Given the description of an element on the screen output the (x, y) to click on. 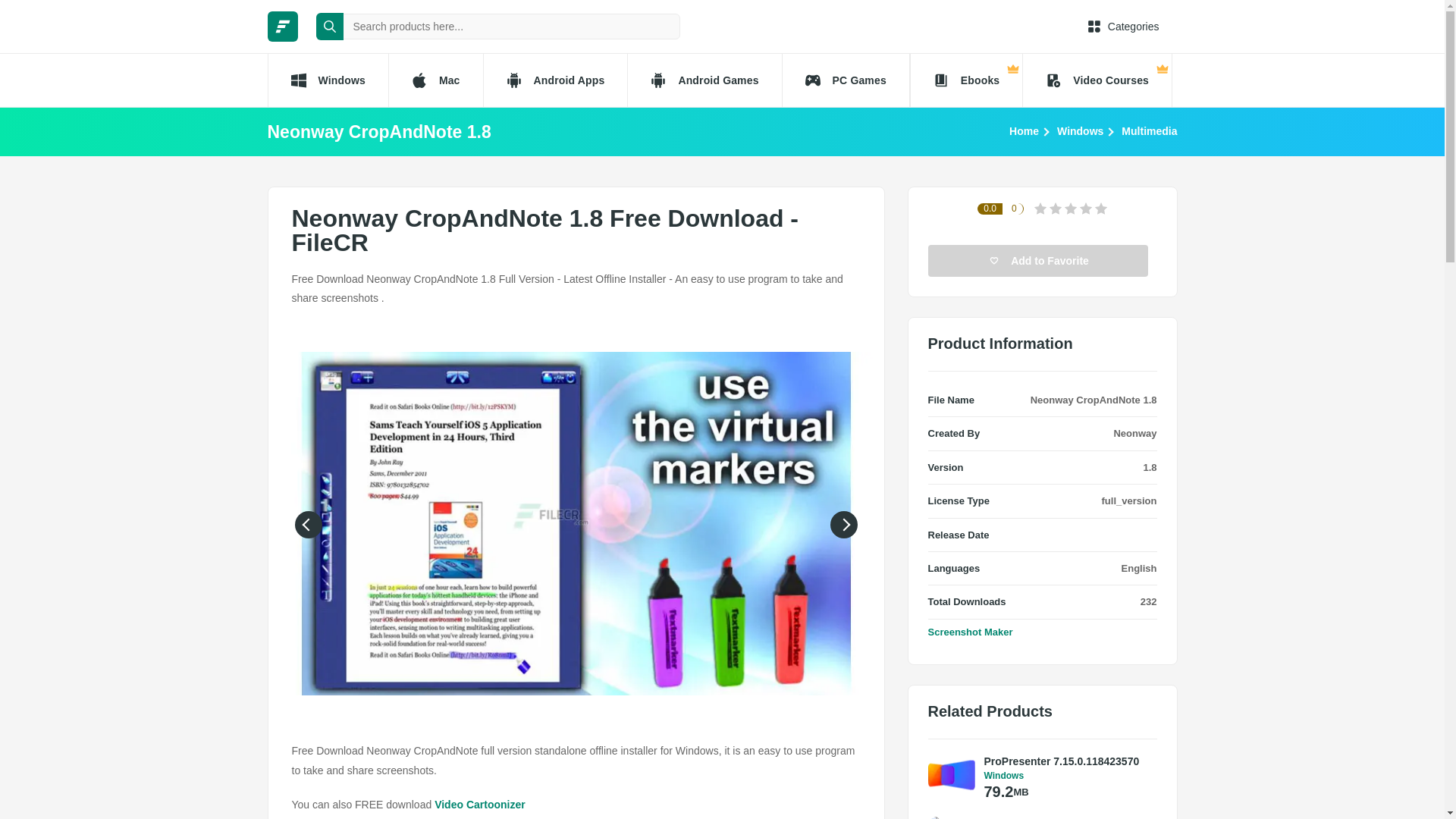
Windows (326, 80)
Screenshot Maker (970, 632)
Neonway (1134, 432)
Windows (1066, 775)
Home (1024, 131)
Categories (1122, 26)
Windows (1080, 131)
Android Games (703, 80)
PC Games (845, 80)
